Given the description of an element on the screen output the (x, y) to click on. 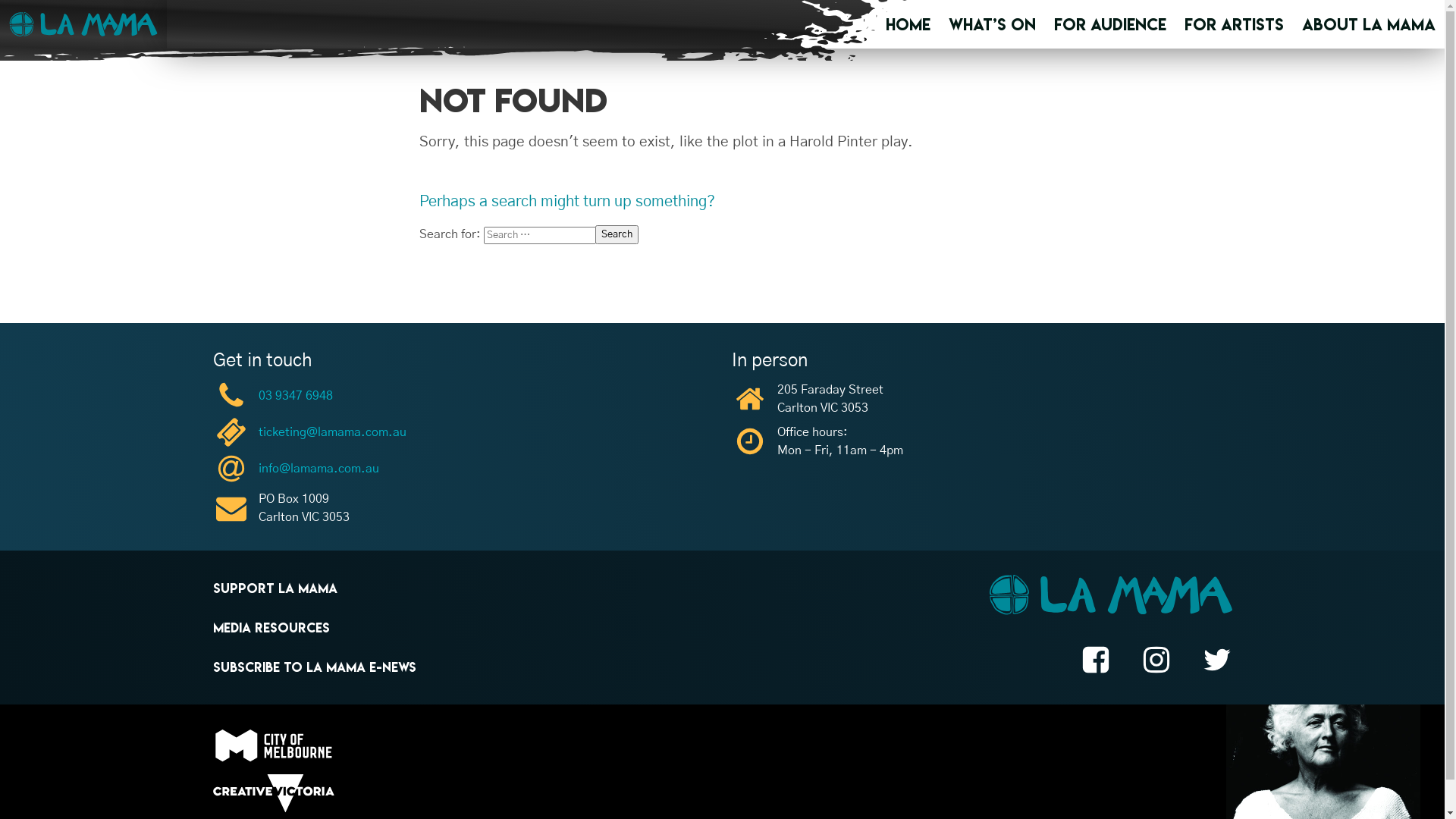
La Mama on Facebook Element type: text (1094, 662)
03 9347 6948 Element type: text (462, 395)
La Mama on Twitter Element type: text (1216, 662)
La Mama logo Element type: text (1109, 597)
ticketing@lamama.com.au Element type: text (462, 432)
About La Mama Element type: text (1368, 23)
Support La Mama Element type: text (274, 588)
For Artists Element type: text (1233, 23)
Search Element type: text (615, 234)
For Audience Element type: text (1110, 23)
info@lamama.com.au Element type: text (462, 468)
La Mama on Instagram Element type: text (1155, 662)
Media Resources Element type: text (270, 627)
Subscribe to La Mama e-News Element type: text (313, 666)
Home Element type: text (907, 23)
